Given the description of an element on the screen output the (x, y) to click on. 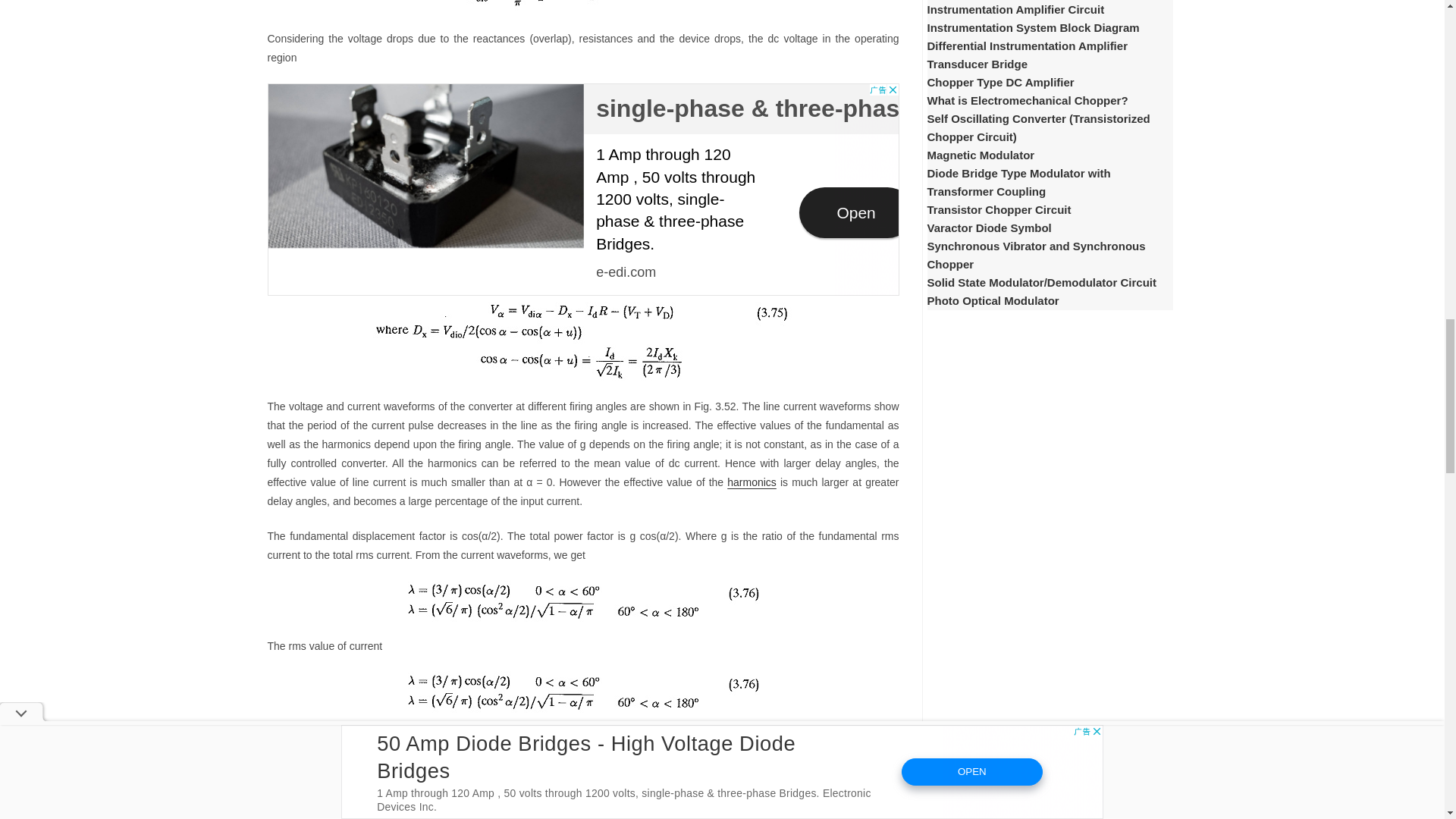
Advertisement (582, 189)
